Given the description of an element on the screen output the (x, y) to click on. 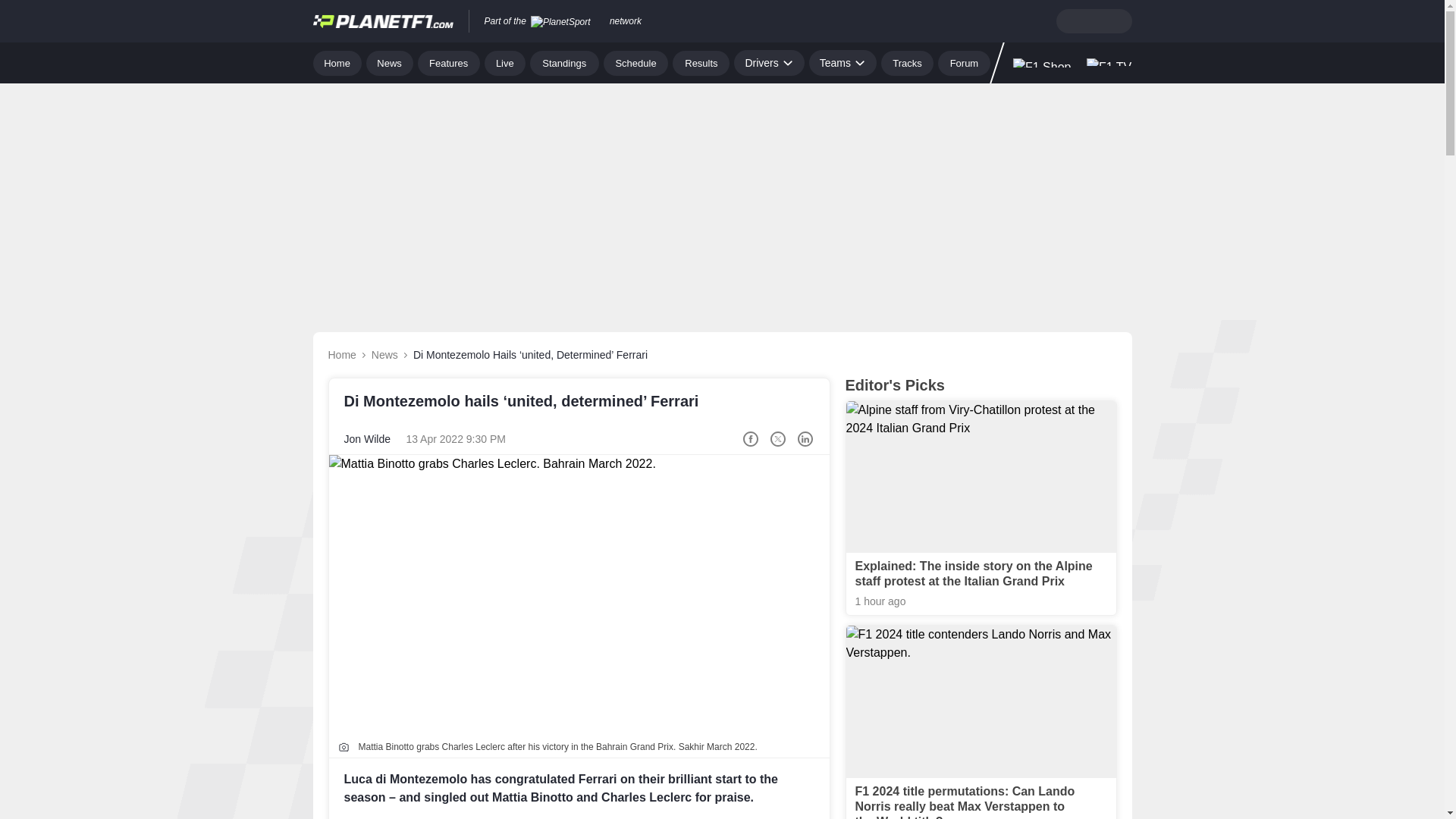
Drivers (768, 62)
Results (700, 62)
Teams (842, 62)
News (389, 62)
Standings (563, 62)
Features (448, 62)
Schedule (636, 62)
Live (504, 62)
Home (337, 62)
